Given the description of an element on the screen output the (x, y) to click on. 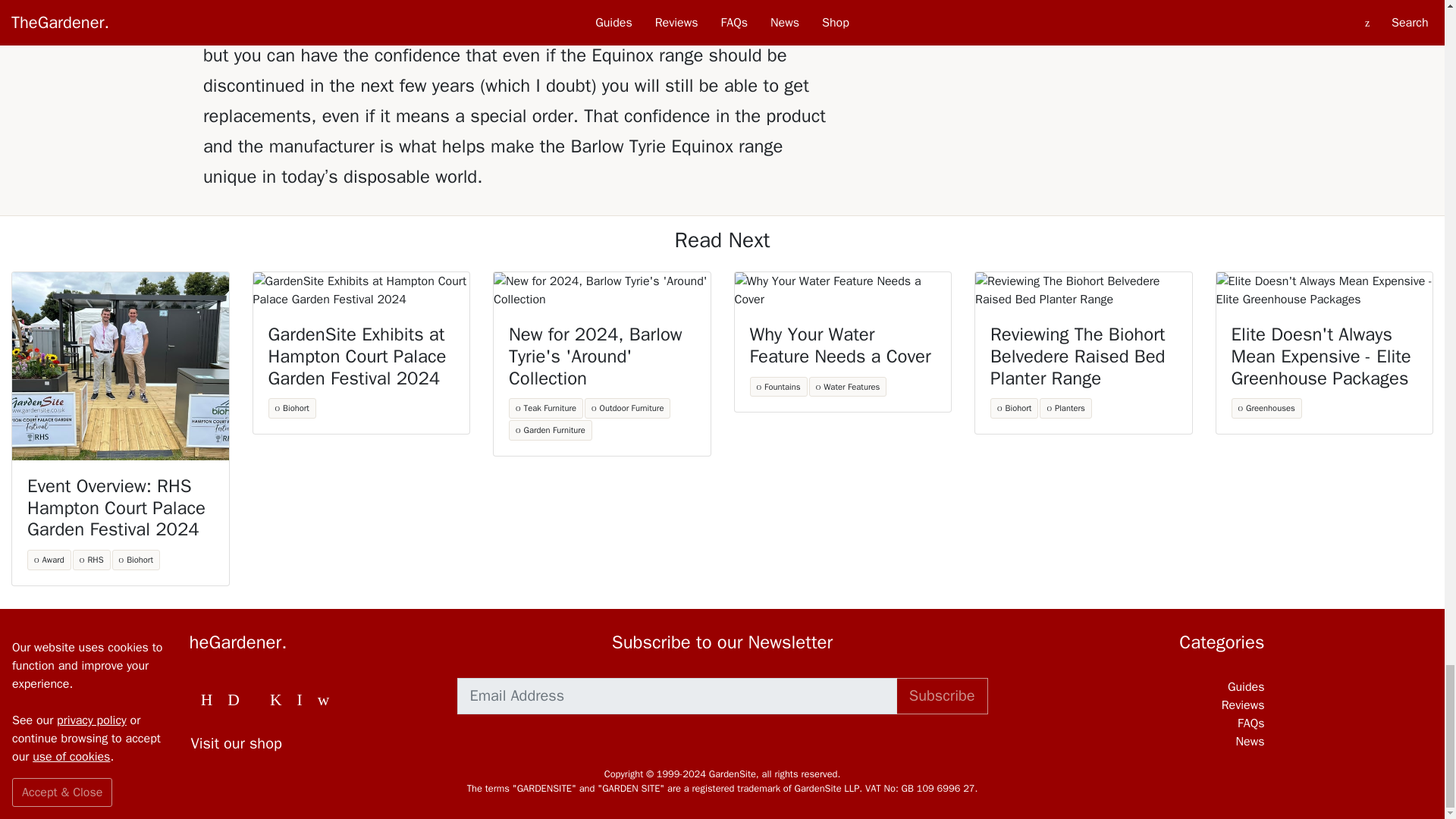
FAQs (1136, 723)
TheGardener. (306, 642)
Guides (1136, 687)
Subscribe (942, 696)
Reviews (1136, 705)
